Given the description of an element on the screen output the (x, y) to click on. 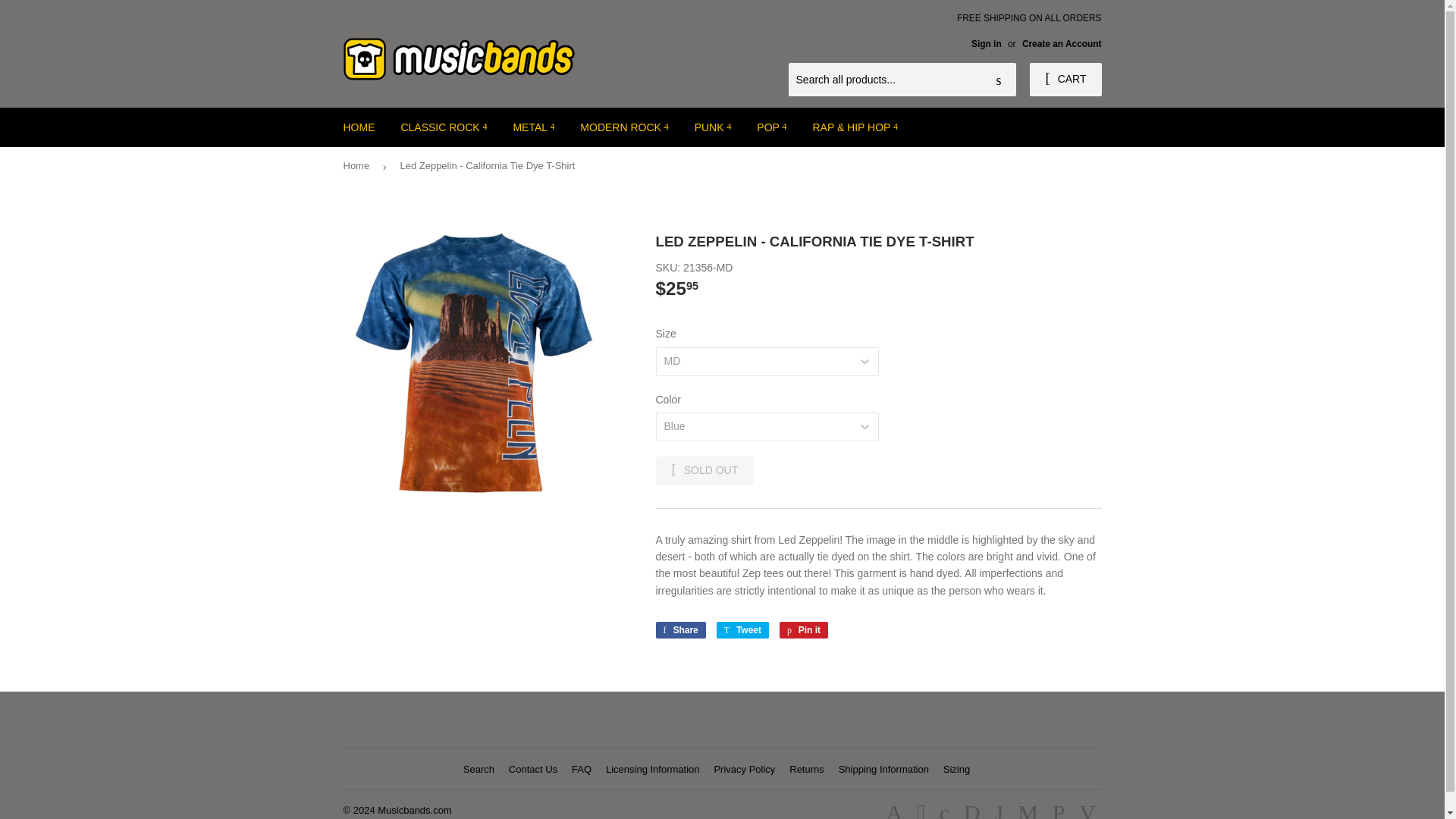
CLASSIC ROCK (442, 127)
METAL (533, 127)
HOME (359, 127)
Share on Facebook (679, 629)
CART (1064, 79)
Tweet on Twitter (742, 629)
Search (998, 80)
Pin on Pinterest (803, 629)
Create an Account (1062, 43)
Back to the frontpage (358, 166)
Sign in (986, 43)
MODERN ROCK (624, 127)
